Given the description of an element on the screen output the (x, y) to click on. 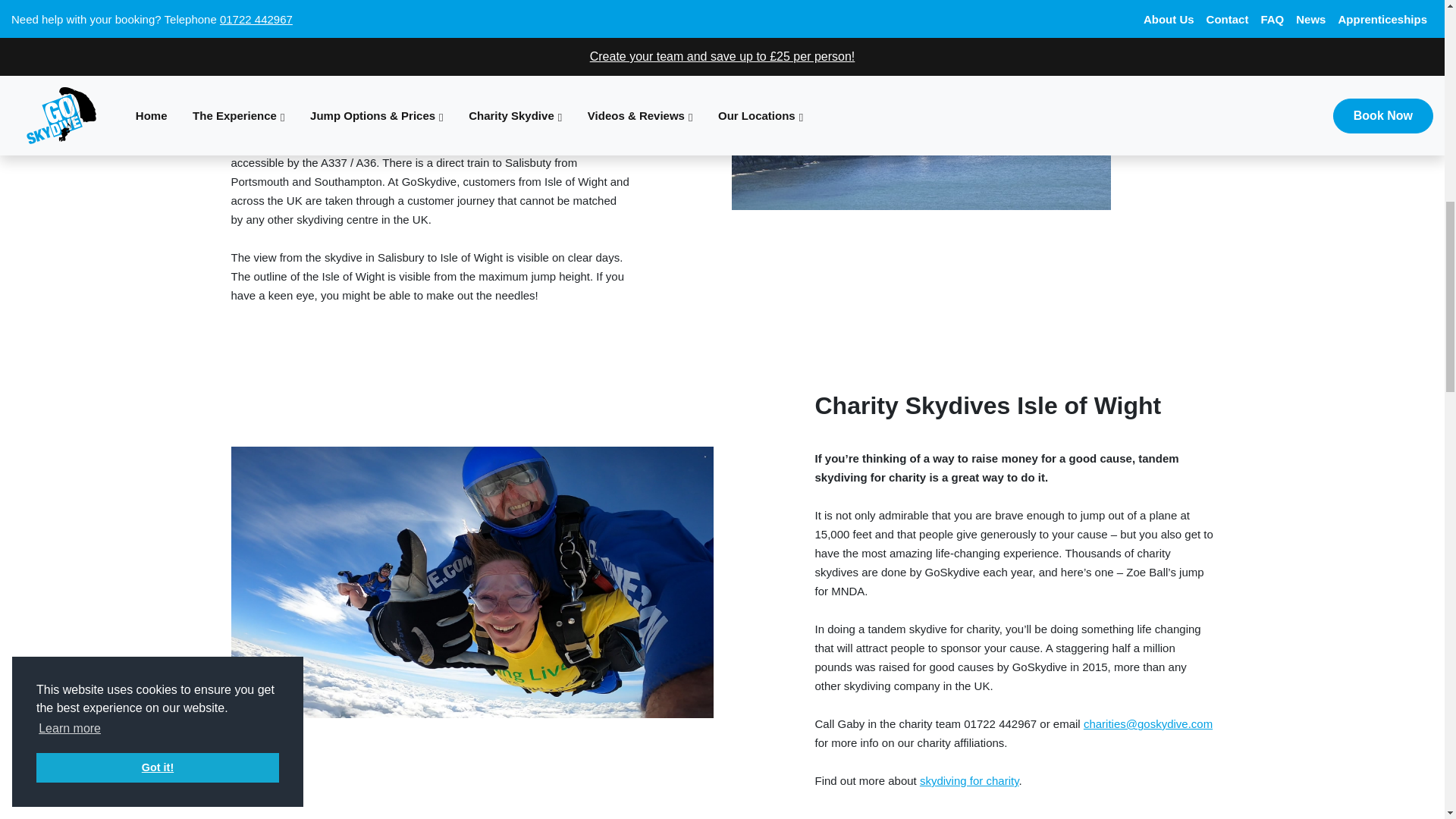
skydiving for charity (969, 780)
